Given the description of an element on the screen output the (x, y) to click on. 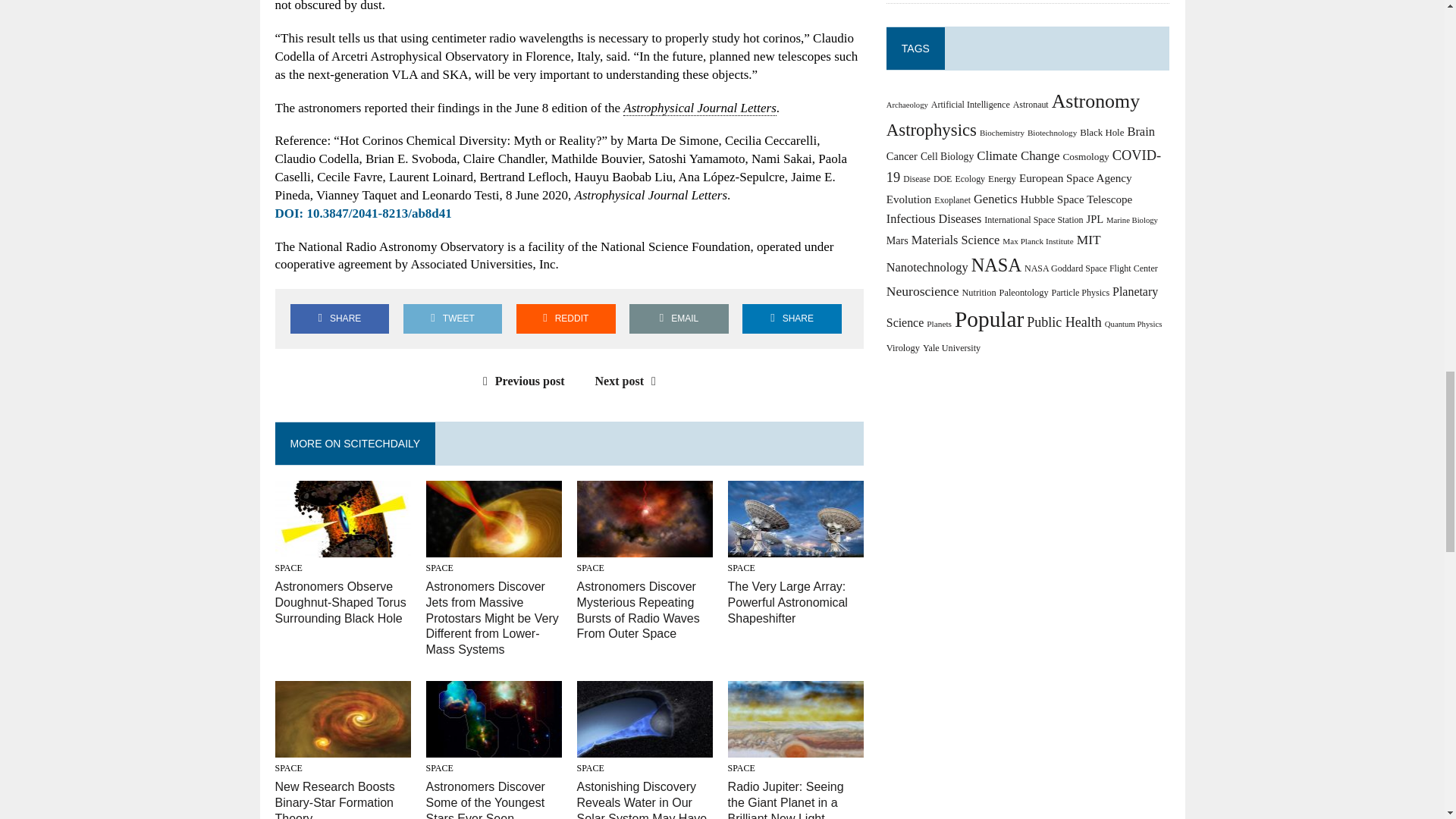
Share on Facebook (338, 318)
Share on LinkedIn (791, 318)
Post This Article to Reddit (565, 318)
Tweet This Article (452, 318)
